Given the description of an element on the screen output the (x, y) to click on. 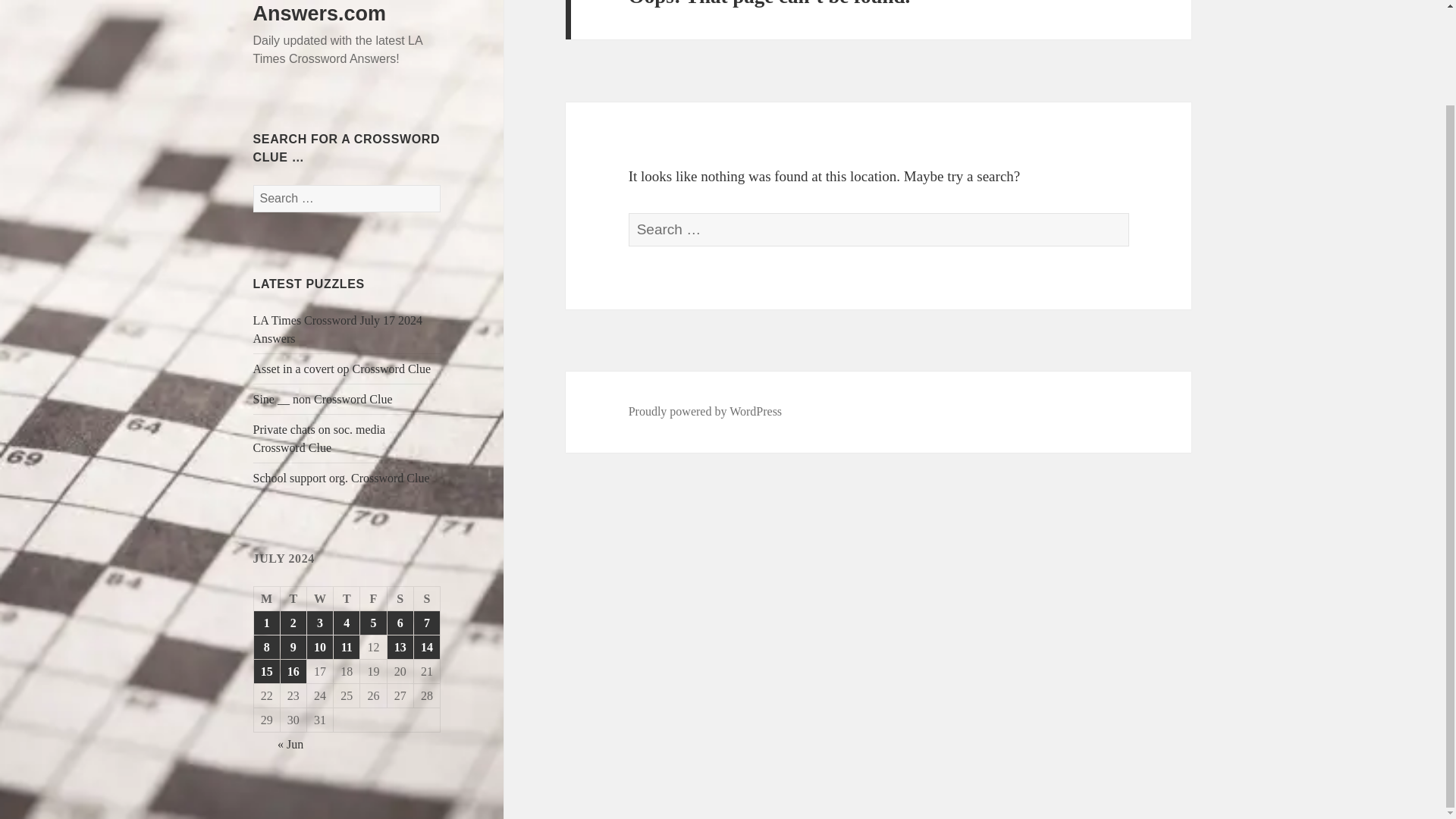
Tuesday (294, 598)
11 (346, 647)
16 (293, 671)
14 (426, 647)
Asset in a covert op Crossword Clue (341, 368)
2 (293, 622)
6 (400, 622)
School support org. Crossword Clue (341, 477)
13 (400, 647)
10 (320, 647)
Proudly powered by WordPress (704, 411)
